Given the description of an element on the screen output the (x, y) to click on. 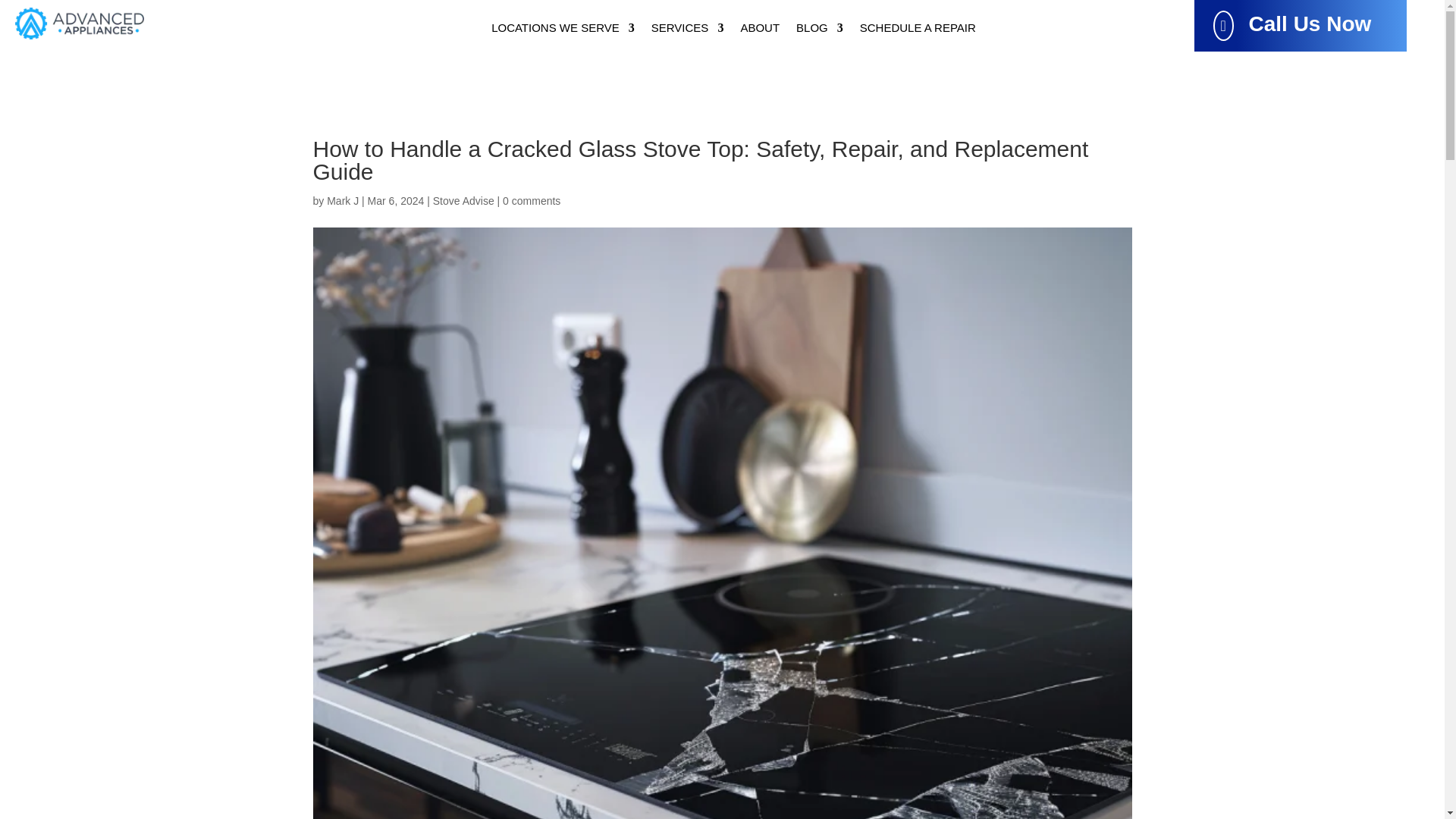
Posts by Mark J (342, 200)
Appliance-Repair-Vancouver-Logo-small (79, 23)
ABOUT (758, 30)
LOCATIONS WE SERVE (563, 30)
BLOG (819, 30)
SCHEDULE A REPAIR (917, 30)
SERVICES (686, 30)
